Given the description of an element on the screen output the (x, y) to click on. 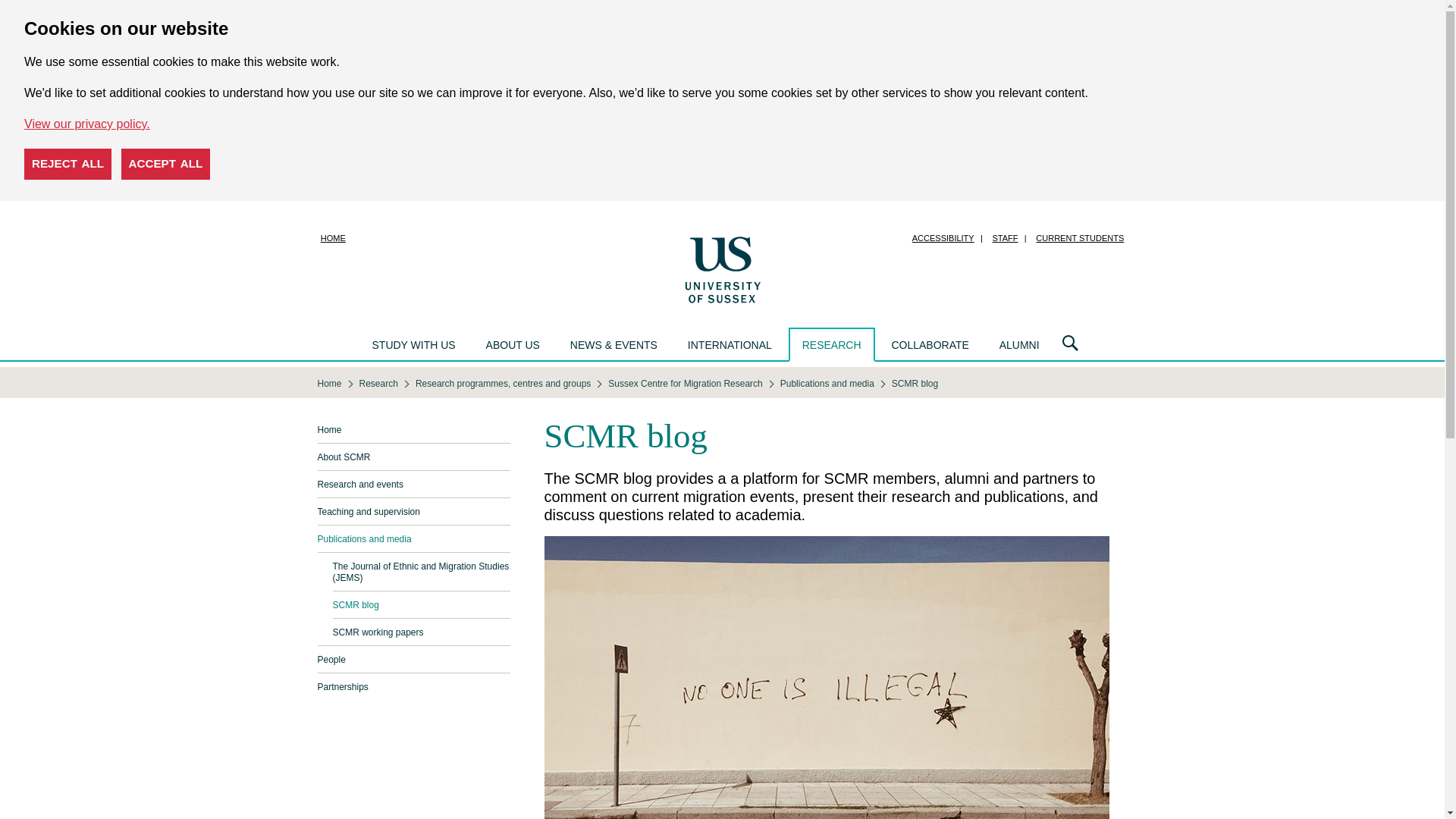
CURRENT STUDENTS (1079, 238)
Search (1070, 343)
HOME (333, 238)
REJECT ALL (68, 163)
ACCEPT ALL (165, 163)
ACCESSIBILITY (942, 238)
View our privacy policy. (86, 123)
University of Sussex (722, 268)
STAFF (1005, 238)
